Given the description of an element on the screen output the (x, y) to click on. 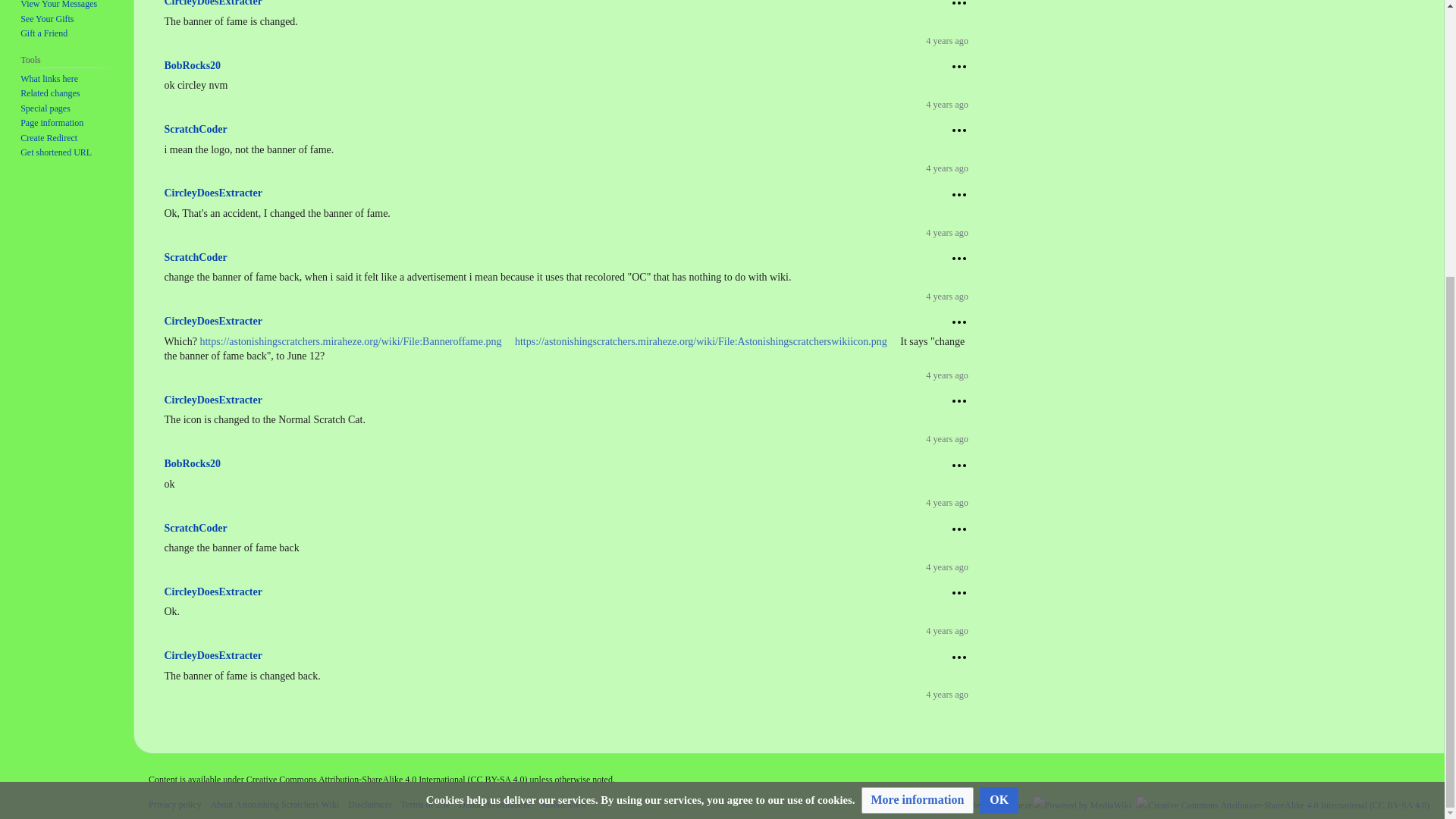
CircleyDoesExtracter (212, 3)
4 years ago (949, 40)
4 years ago (949, 104)
BobRocks20 (192, 65)
ScratchCoder (195, 129)
